Given the description of an element on the screen output the (x, y) to click on. 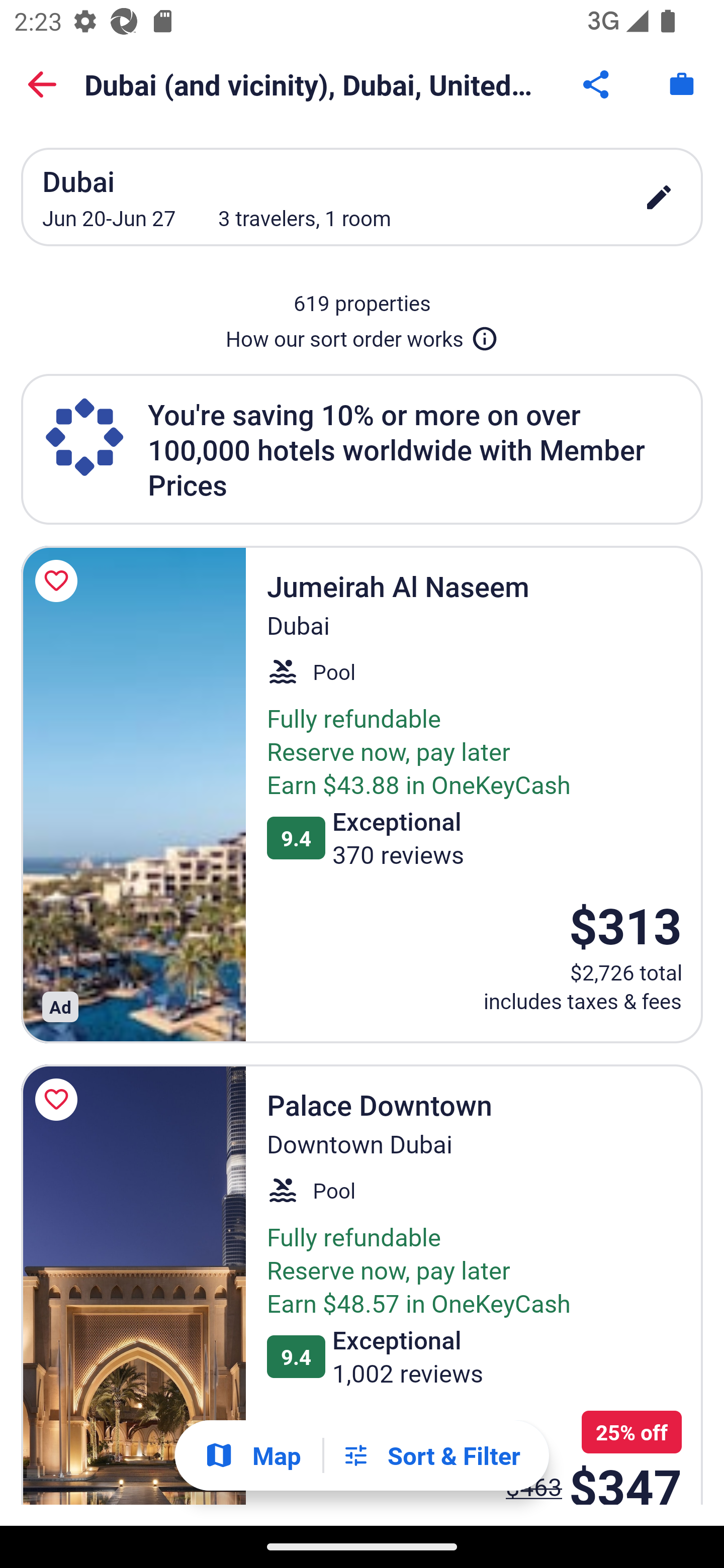
Back (42, 84)
Share Button (597, 84)
Trips. Button (681, 84)
Dubai Jun 20-Jun 27 3 travelers, 1 room edit (361, 196)
How our sort order works (361, 334)
Save Jumeirah Al Naseem to a trip (59, 580)
Jumeirah Al Naseem (133, 793)
Save Palace Downtown to a trip (59, 1098)
Palace Downtown (133, 1284)
Filters Sort & Filter Filters Button (430, 1455)
Show map Map Show map Button (252, 1455)
